Given the description of an element on the screen output the (x, y) to click on. 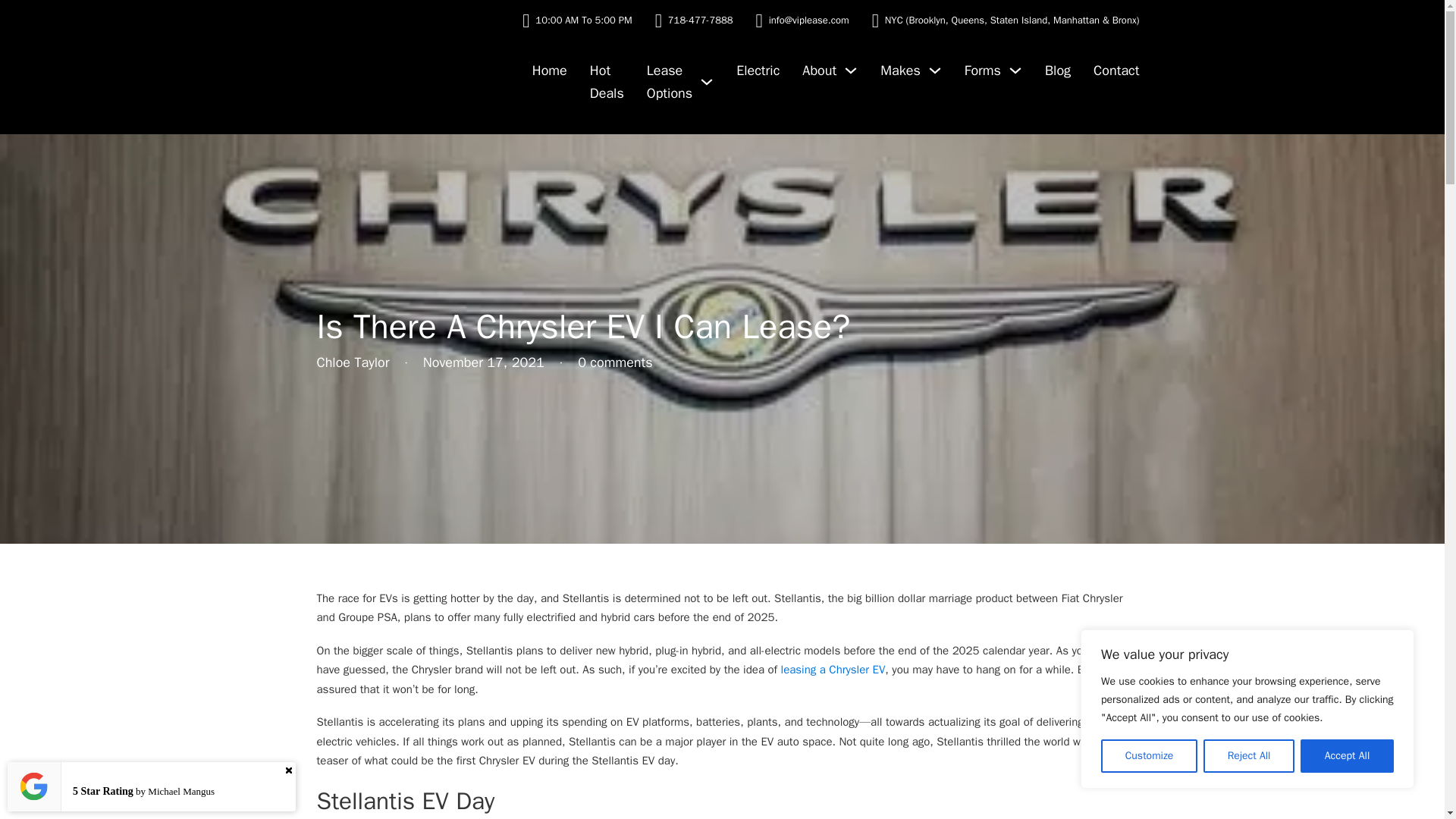
About (818, 70)
Makes (900, 70)
Electric (757, 70)
Lease Options (669, 81)
Customize (1148, 756)
Reject All (1249, 756)
718-477-7888 (700, 20)
Accept All (1346, 756)
Hot Deals (606, 81)
Home (549, 70)
